Given the description of an element on the screen output the (x, y) to click on. 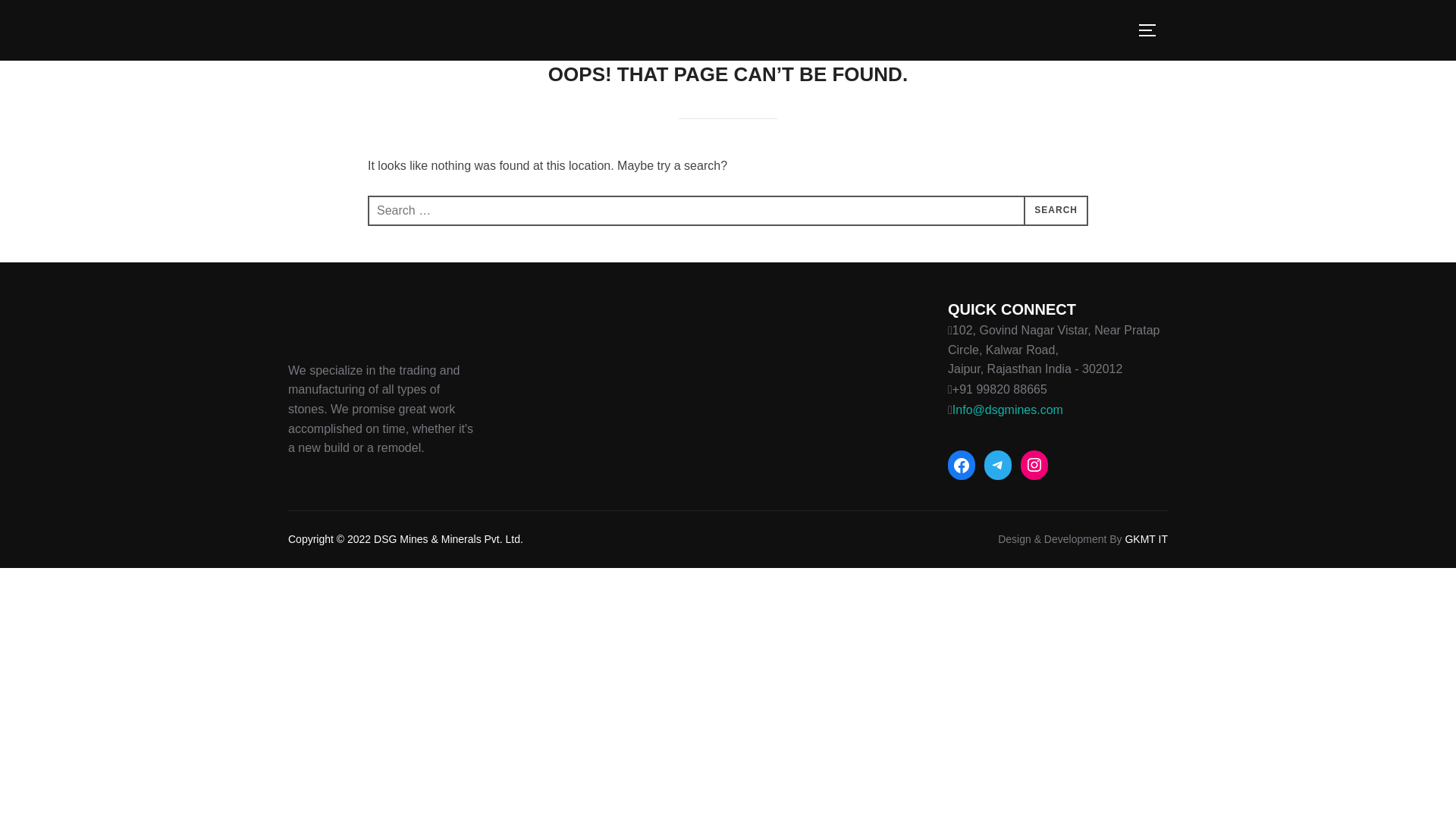
send mail (1007, 409)
Facebook (961, 465)
Instagram (1034, 464)
Telegram (997, 464)
GKMT IT (1145, 539)
SEARCH (1055, 210)
